Given the description of an element on the screen output the (x, y) to click on. 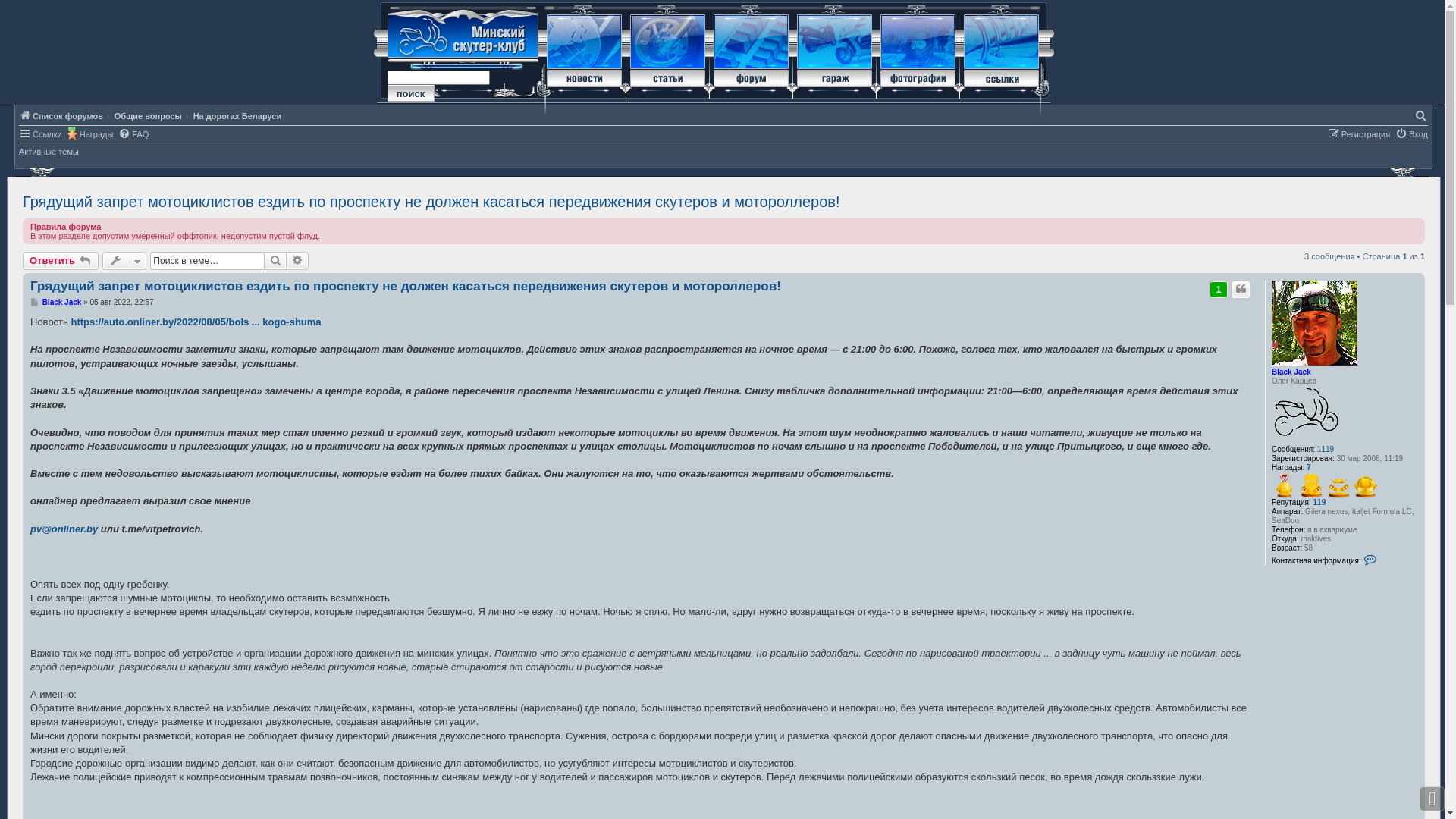
1119 Element type: text (1325, 449)
https://auto.onliner.by/2022/08/05/bols ... kogo-shuma Element type: text (195, 322)
Black Jack Element type: text (1291, 371)
pv@onliner.by Element type: text (63, 529)
FAQ Element type: text (133, 133)
Black Jack Element type: text (61, 302)
1 Element type: text (1218, 289)
7 Element type: text (1308, 467)
119 Element type: text (1319, 502)
